Given the description of an element on the screen output the (x, y) to click on. 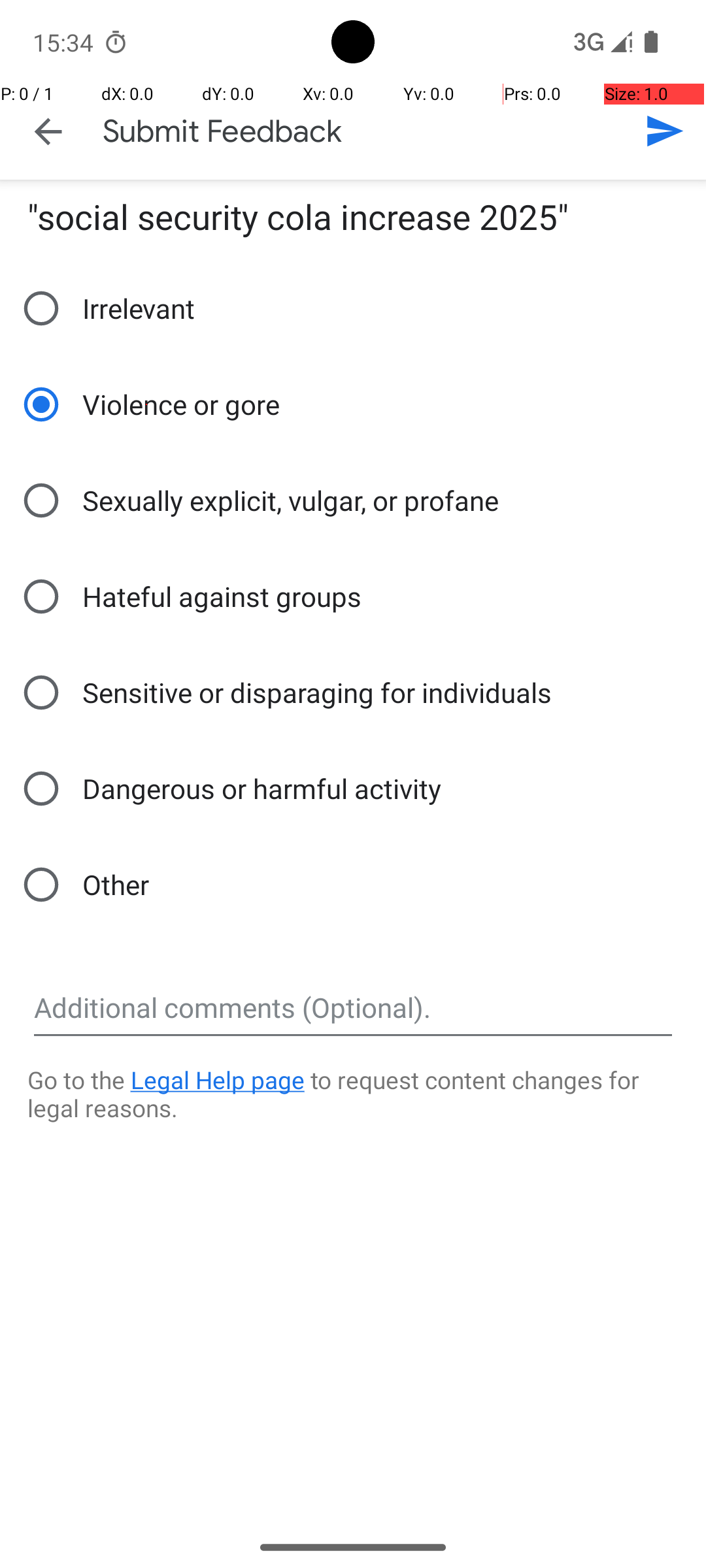
Submit Feedback Element type: android.widget.TextView (221, 130)
Send button to submit feedback. Element type: android.widget.Button (664, 131)
"social security cola increase 2025" Element type: android.widget.TextView (298, 216)
Irrelevant Element type: android.widget.RadioButton (104, 308)
Violence or gore Element type: android.widget.RadioButton (146, 404)
Sexually explicit, vulgar, or profane Element type: android.widget.RadioButton (256, 500)
Hateful against groups Element type: android.widget.RadioButton (187, 596)
Sensitive or disparaging for individuals Element type: android.widget.RadioButton (282, 692)
Dangerous or harmful activity Element type: android.widget.RadioButton (227, 788)
Additional comments (Optional). Element type: android.widget.EditText (352, 1007)
Go to the Legal Help page to request content changes for legal reasons. Element type: android.widget.TextView (352, 1103)
